Given the description of an element on the screen output the (x, y) to click on. 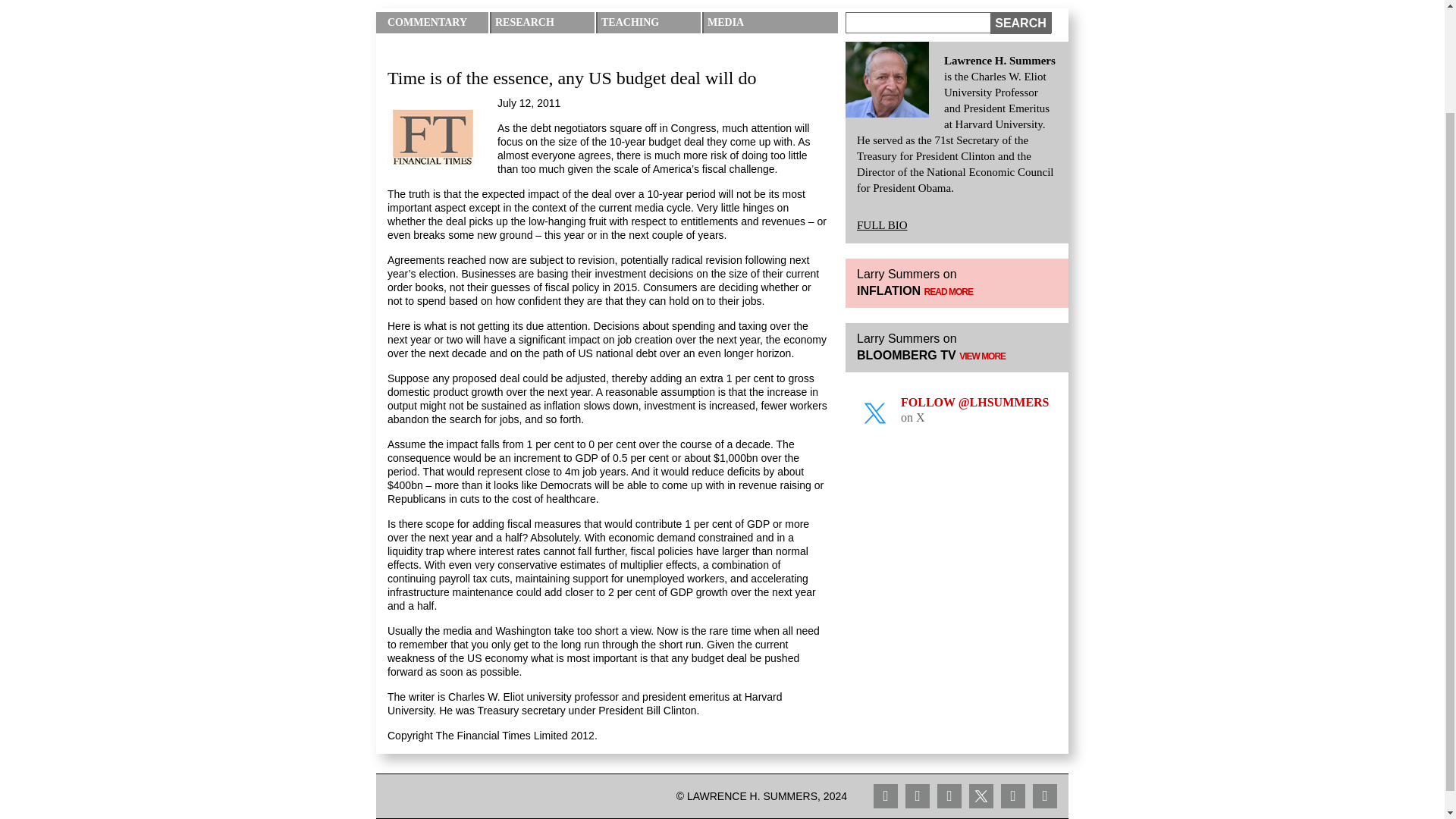
READ MORE (948, 291)
FULL BIO (882, 224)
Search (1020, 23)
MEDIA RESOURCES (757, 33)
RESEARCH (544, 22)
COMMENTARY (437, 22)
VIEW MORE (982, 356)
TEACHING (650, 22)
Search (1020, 23)
Search (1020, 23)
